Given the description of an element on the screen output the (x, y) to click on. 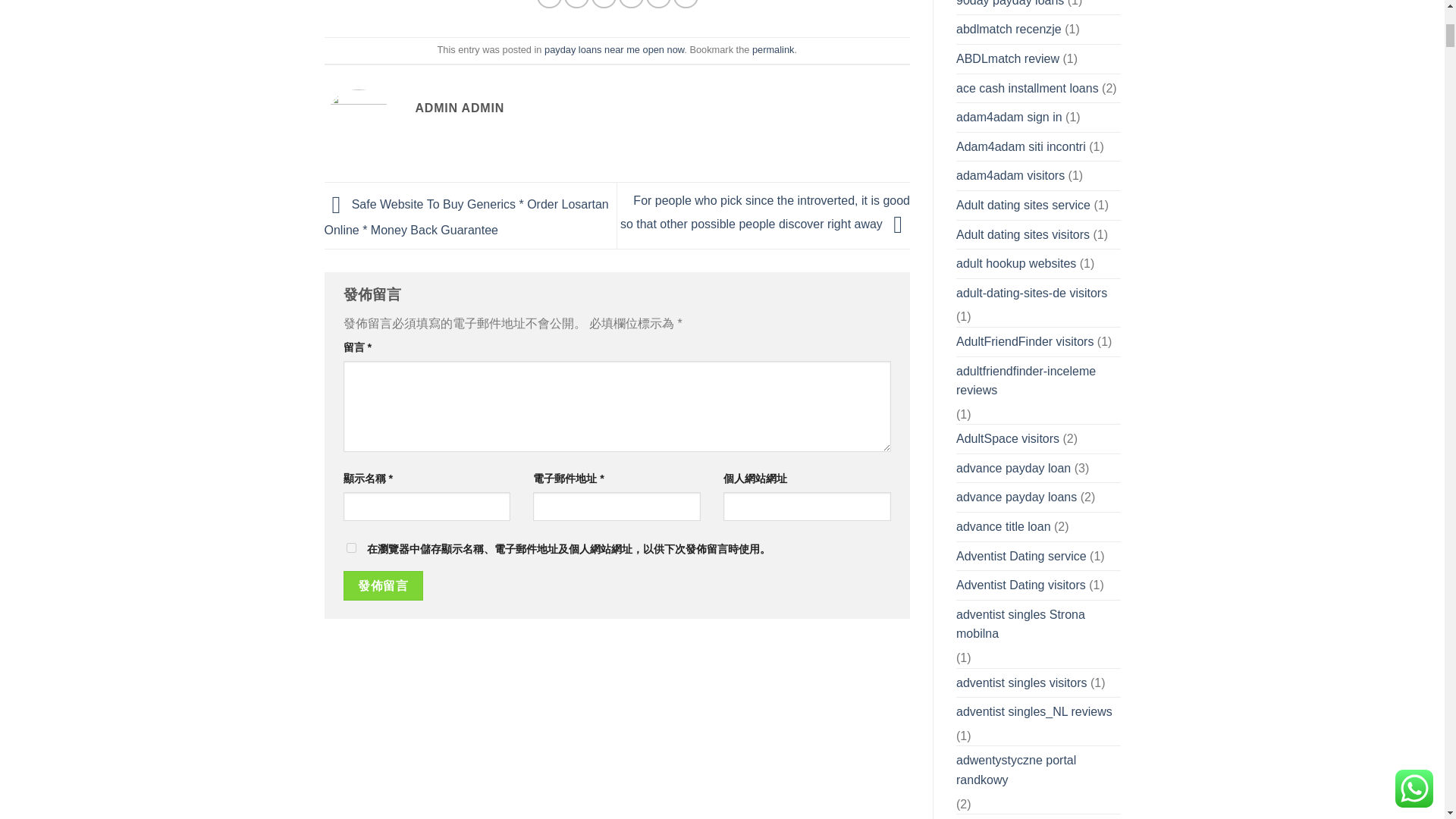
payday loans near me open now (614, 49)
yes (350, 547)
permalink (772, 49)
